Given the description of an element on the screen output the (x, y) to click on. 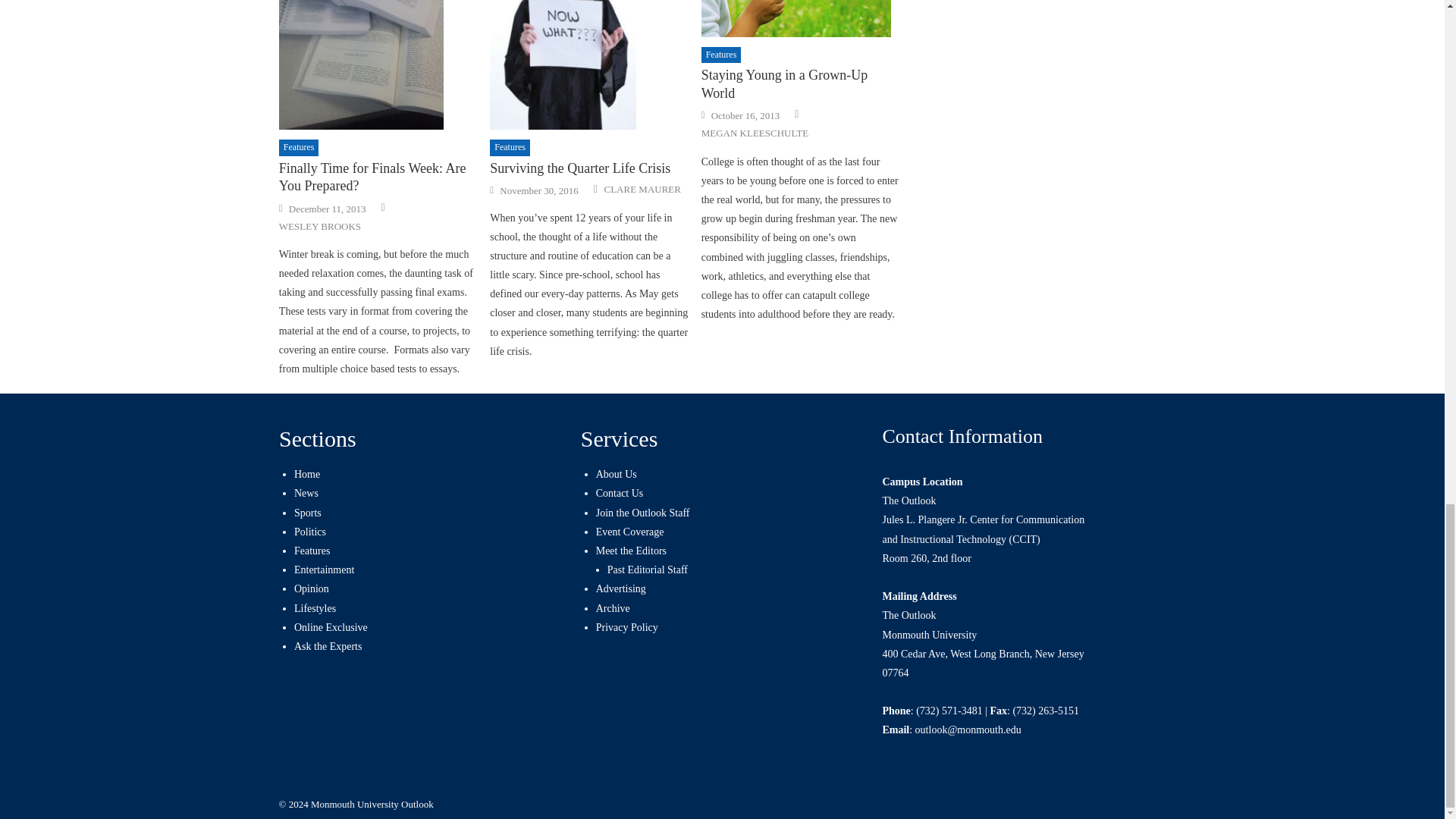
Features (509, 147)
December 11, 2013 (327, 209)
Posts by CLARE MAURER (641, 189)
November 30, 2016 (538, 191)
Features (721, 54)
Features (298, 147)
Posts by MEGAN KLEESCHULTE (754, 133)
WESLEY BROOKS (320, 226)
Staying Young in a Grown-Up World (800, 84)
Surviving the Quarter Life Crisis (588, 65)
Surviving the Quarter Life Crisis (588, 168)
Posts by WESLEY BROOKS (320, 226)
Staying Young in a Grown-Up World (800, 18)
CLARE MAURER (641, 189)
Finally Time for Finals Week: Are You Prepared? (378, 177)
